Given the description of an element on the screen output the (x, y) to click on. 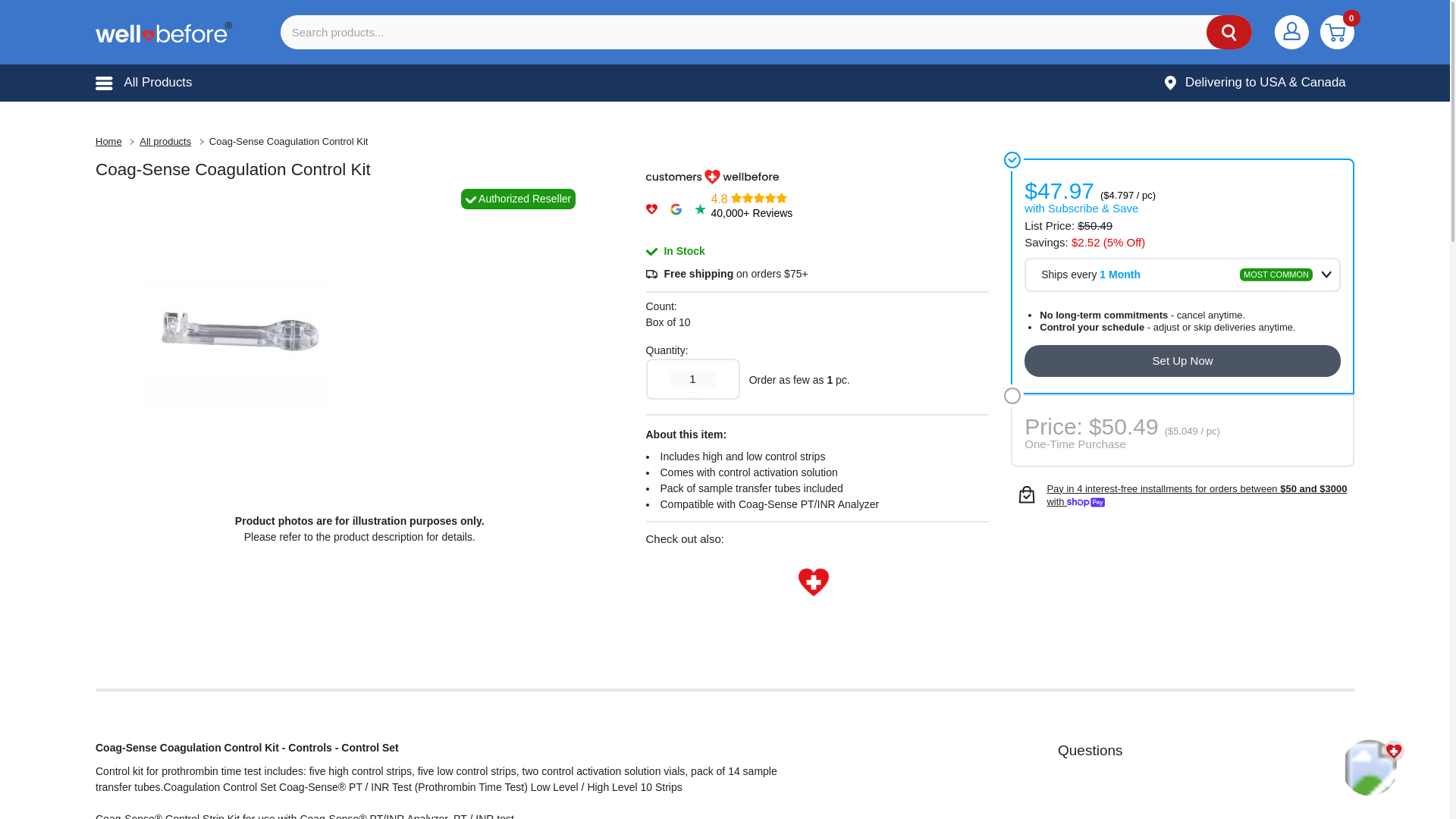
0 (1337, 32)
Subscription (1181, 276)
One-Time Purchase (1181, 430)
1 (692, 379)
